Given the description of an element on the screen output the (x, y) to click on. 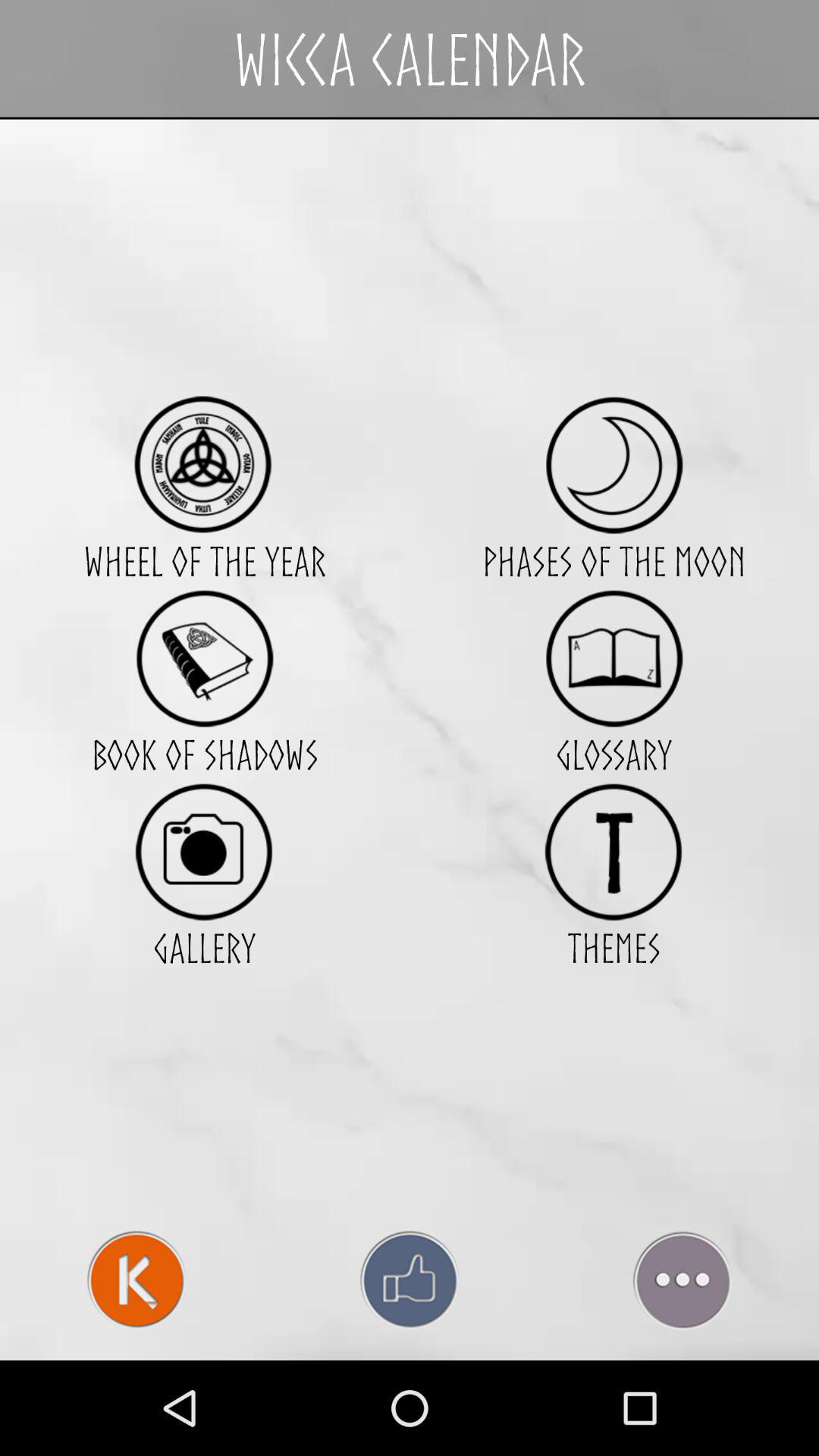
access notes in book of shadows (204, 658)
